Given the description of an element on the screen output the (x, y) to click on. 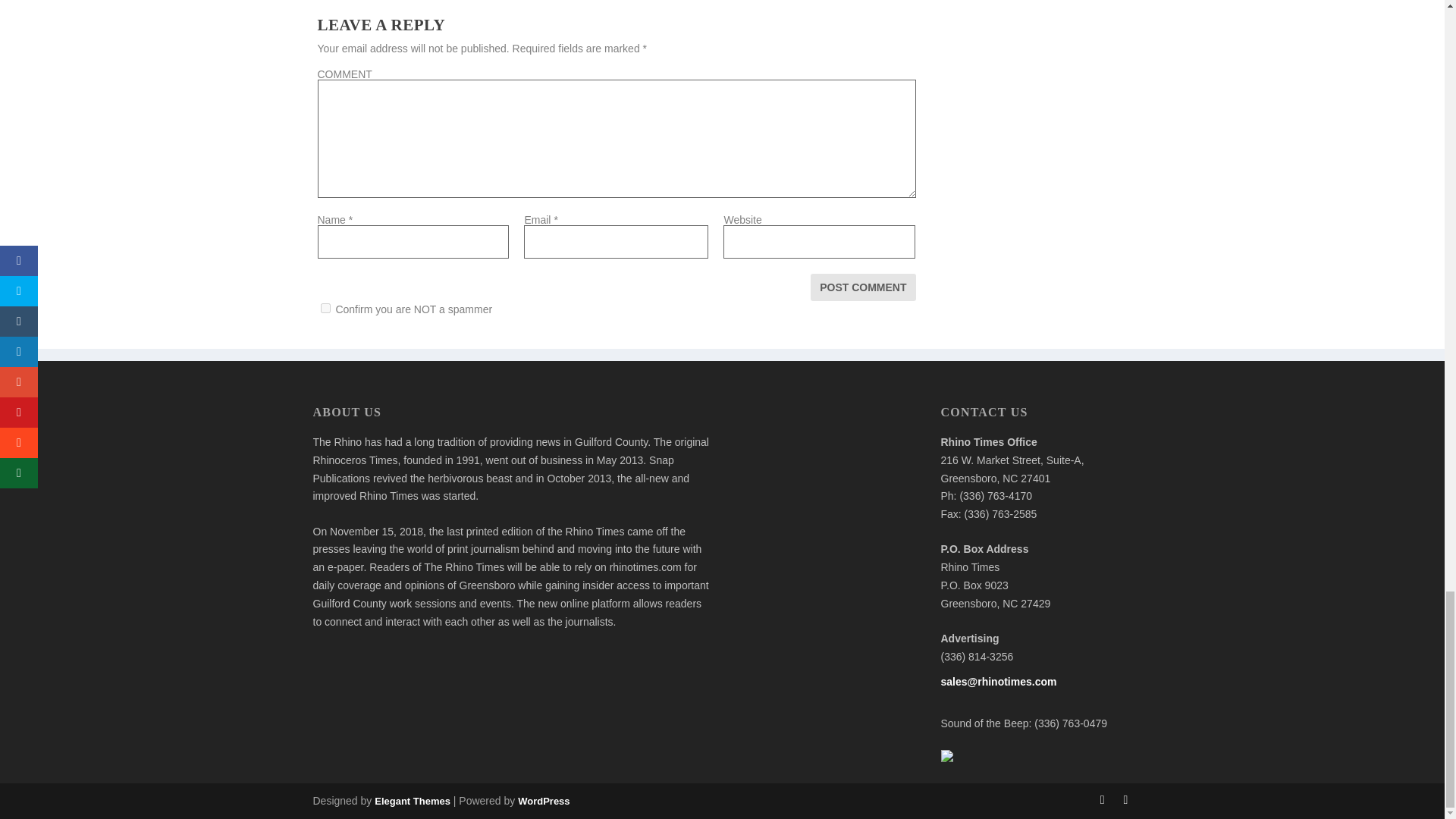
Post Comment (862, 287)
Premium WordPress Themes (411, 800)
on (325, 307)
